Given the description of an element on the screen output the (x, y) to click on. 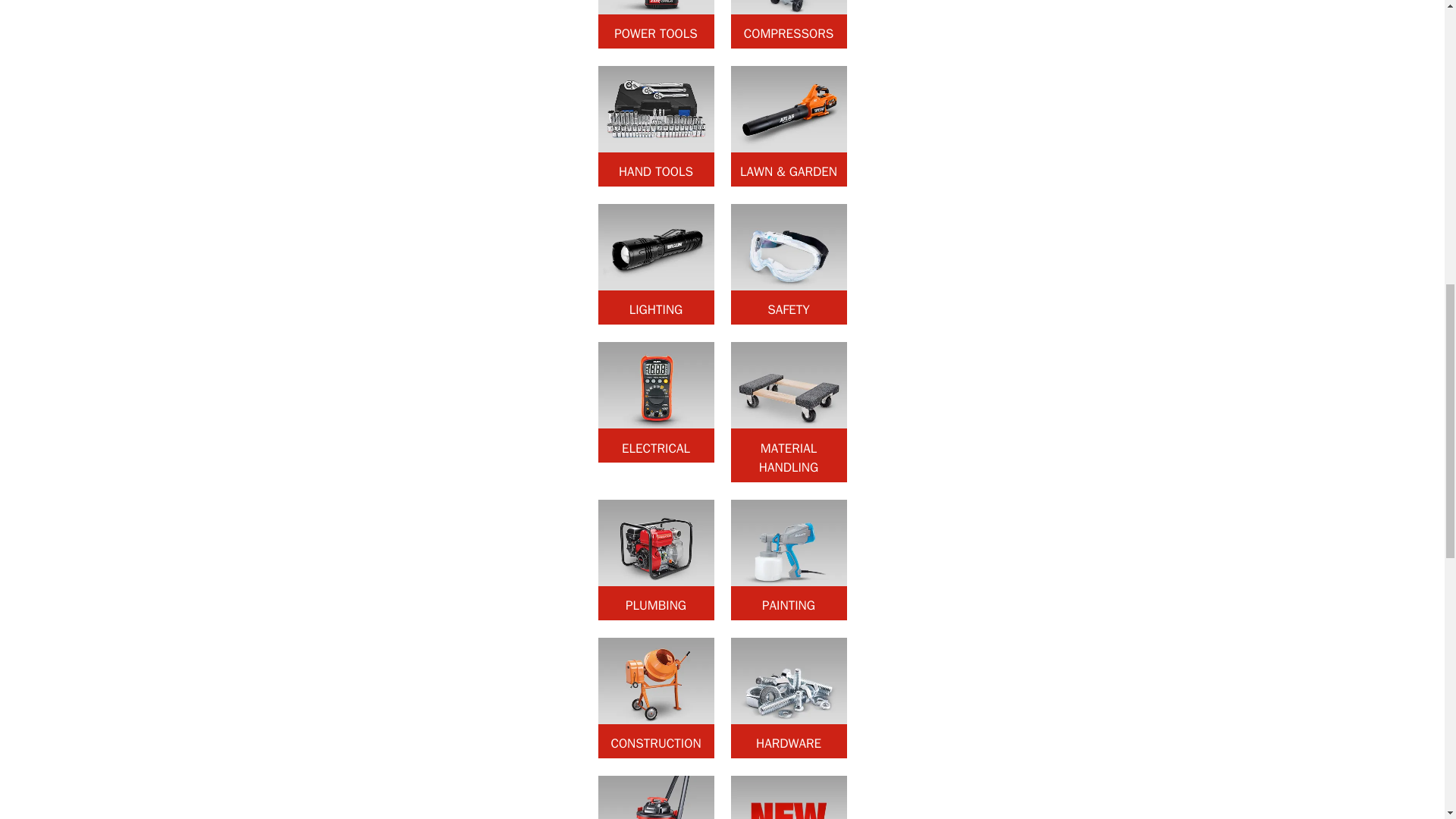
ELECTRICAL (654, 402)
HARDWARE (788, 698)
LIGHTING (654, 263)
POWER TOOLS (654, 24)
HAND TOOLS (654, 126)
NEW TOOLS (788, 797)
CONSTRUCTION (654, 698)
SAFETY (788, 263)
PLUMBING (654, 559)
COMPRESSORS (788, 24)
